Given the description of an element on the screen output the (x, y) to click on. 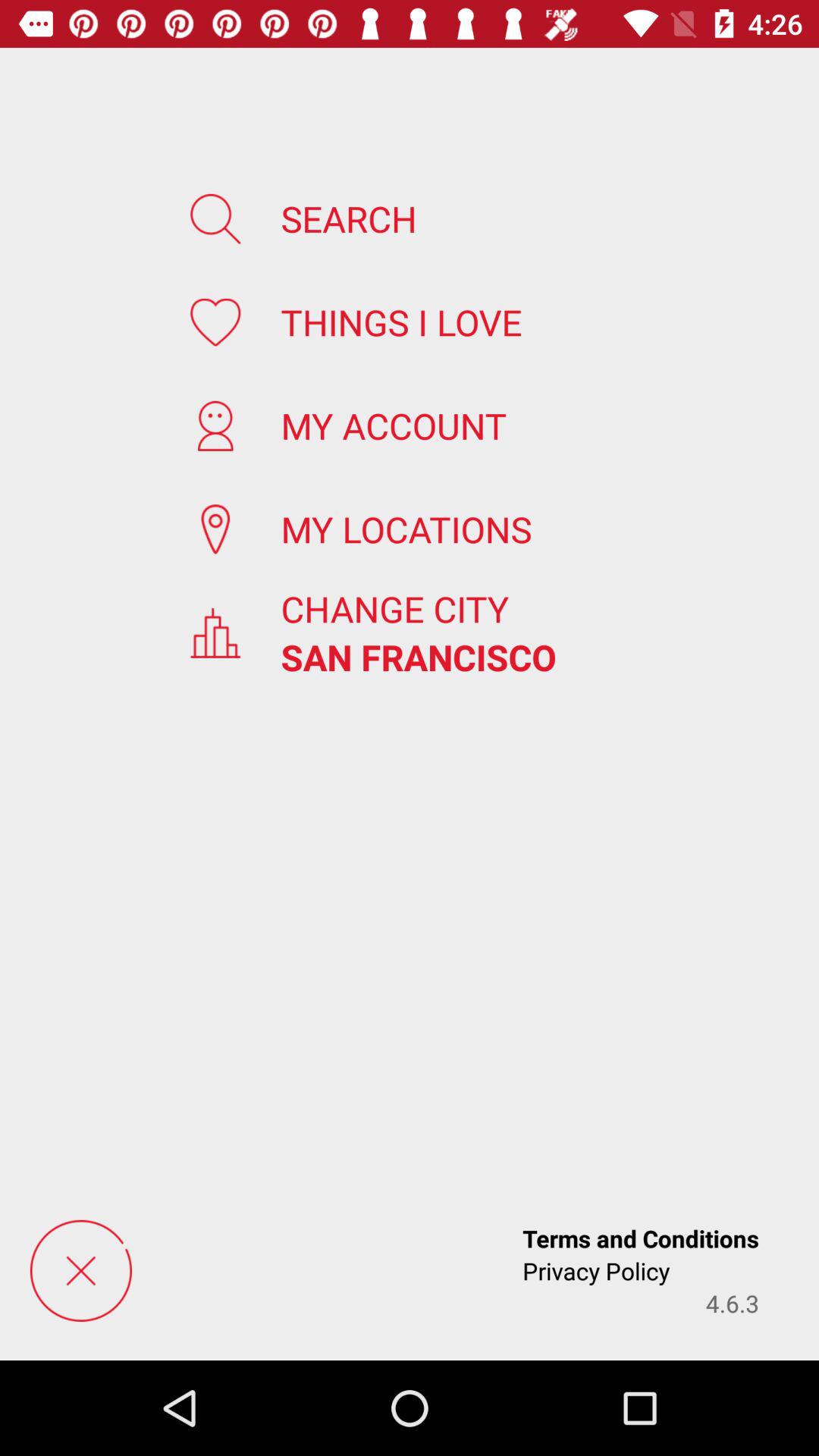
choose the icon below the things i love icon (393, 425)
